Given the description of an element on the screen output the (x, y) to click on. 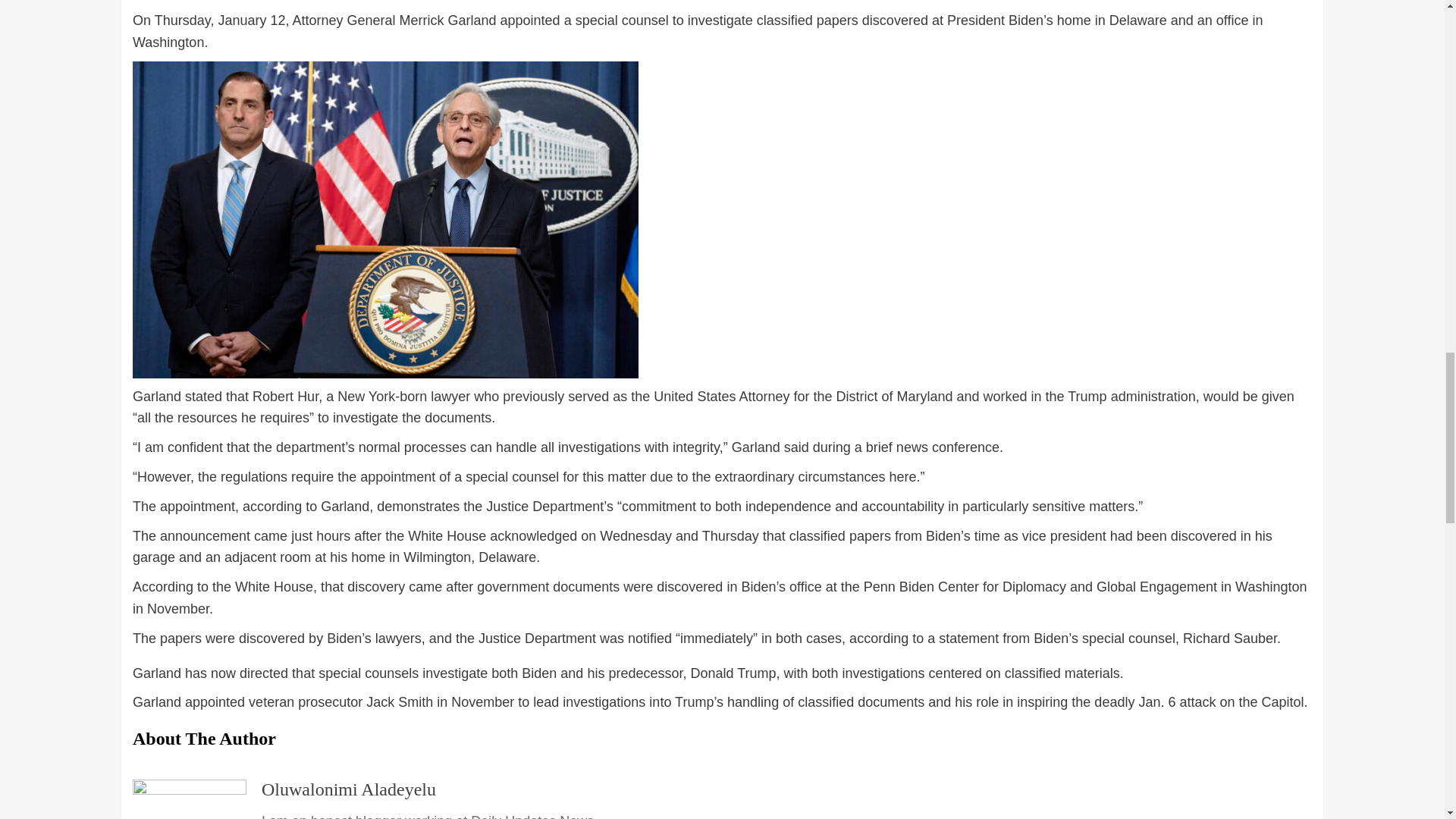
Oluwalonimi Aladeyelu (348, 789)
